Given the description of an element on the screen output the (x, y) to click on. 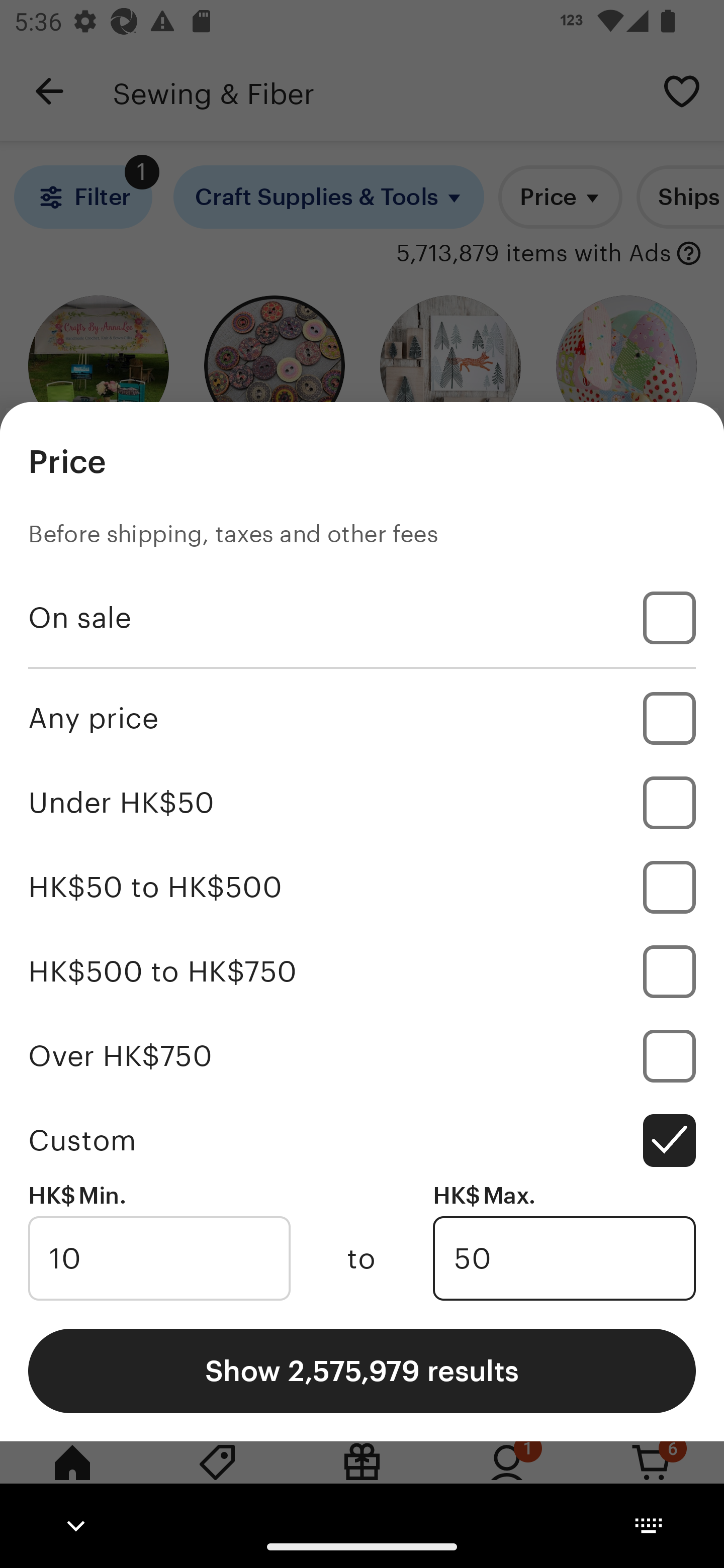
On sale (362, 617)
Any price (362, 717)
Under HK$50 (362, 802)
HK$50 to HK$500 (362, 887)
HK$500 to HK$750 (362, 970)
Over HK$750 (362, 1054)
Custom (362, 1139)
10 (159, 1257)
50 (563, 1257)
Show 2,575,979 results (361, 1370)
